Given the description of an element on the screen output the (x, y) to click on. 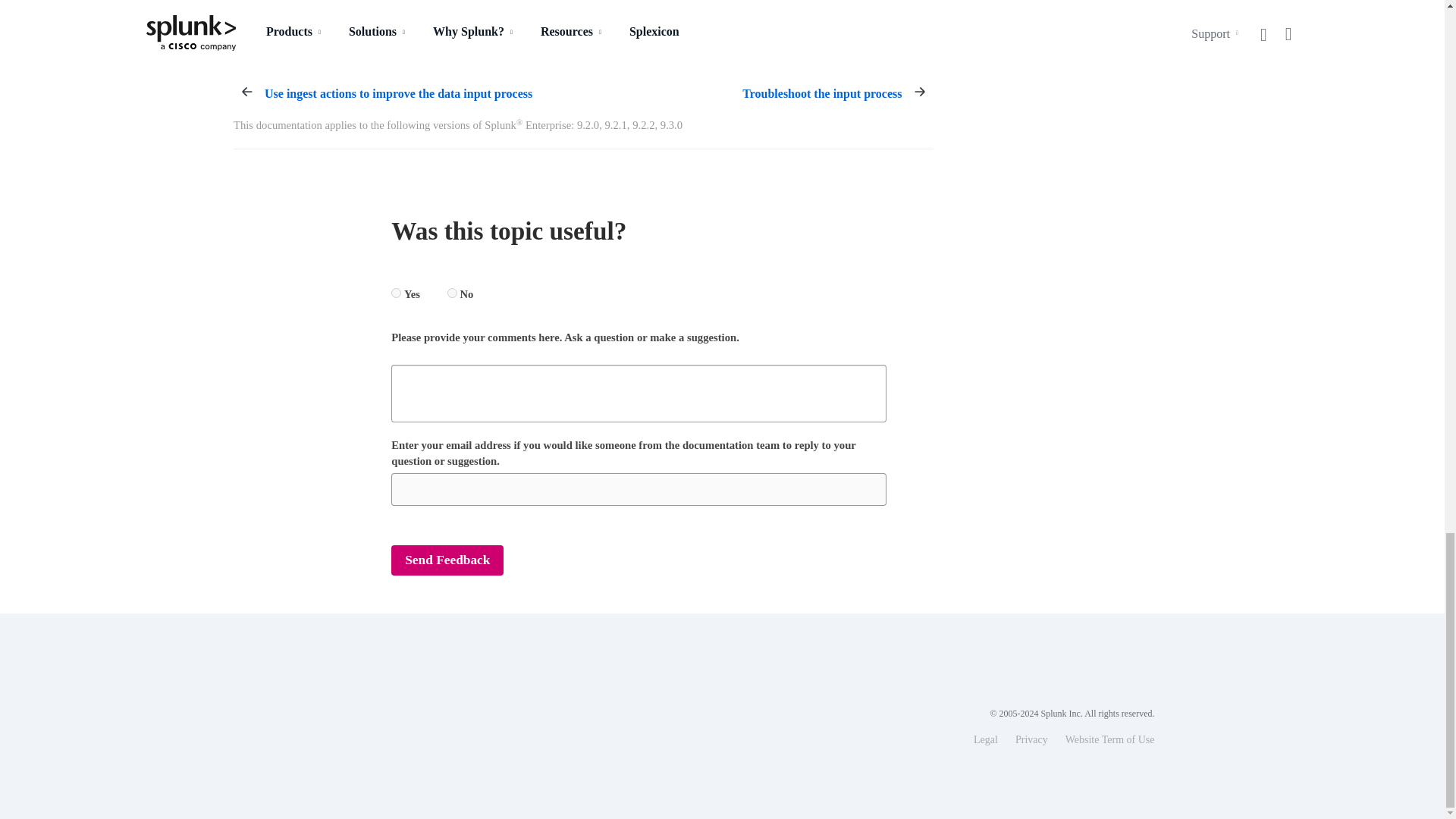
No (451, 293)
Yes (396, 293)
